Given the description of an element on the screen output the (x, y) to click on. 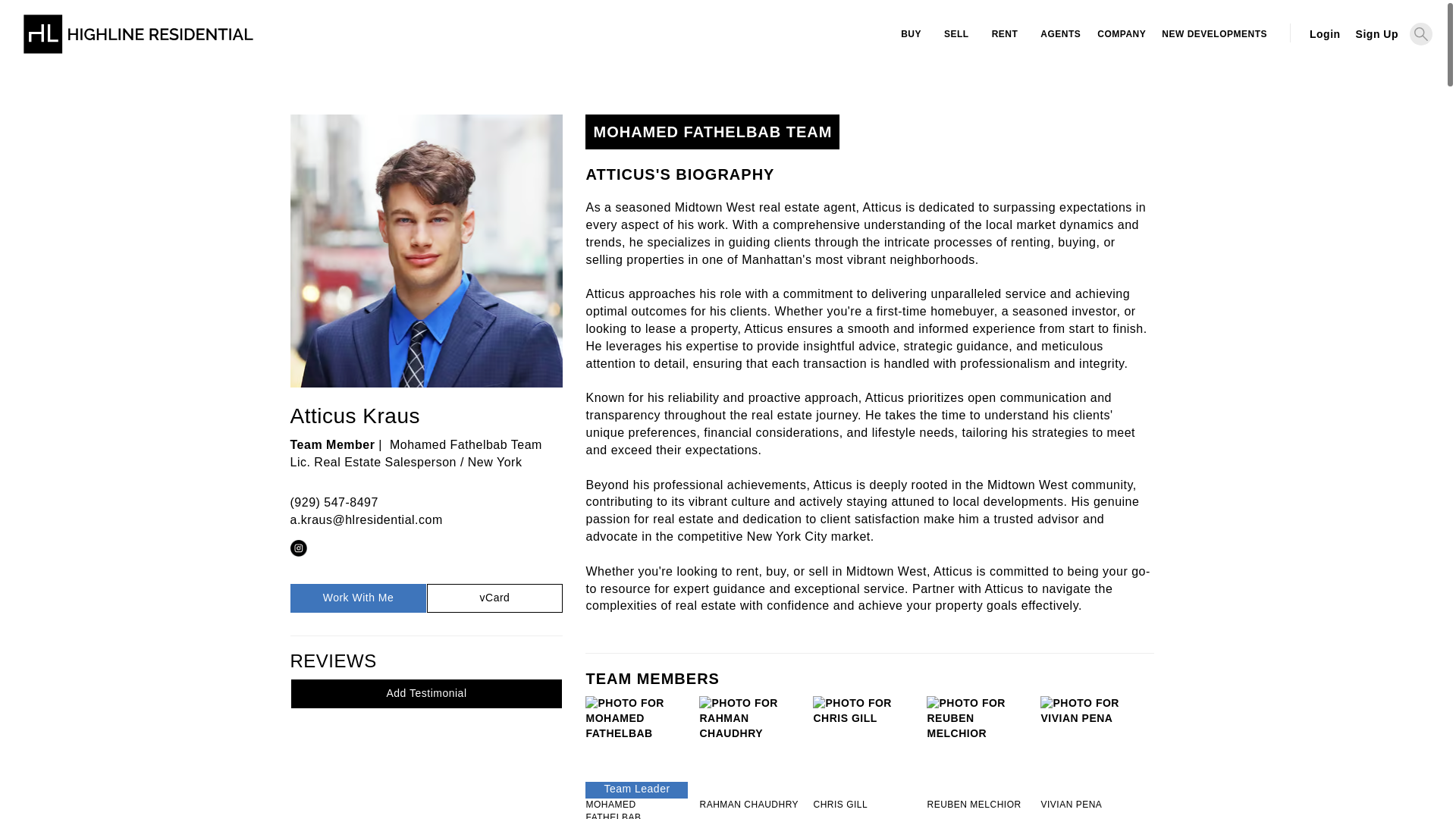
RAHMAN CHAUDHRY (750, 804)
SELL (956, 33)
REUBEN MELCHIOR (977, 804)
COMPANY (1119, 33)
Highline Residential Agents (1059, 33)
VIVIAN PENA (1091, 804)
CHRIS GILL (863, 804)
RENT (1004, 33)
Work With Me (357, 597)
Login to Highline Residential (1324, 33)
AGENTS (1059, 33)
Atticus Kraus NYC Real Estate Agent (425, 250)
NEW DEVELOPMENTS (1214, 33)
Highline Residential - New Developments (1214, 33)
Atticus Kraus on Instagram (297, 547)
